Given the description of an element on the screen output the (x, y) to click on. 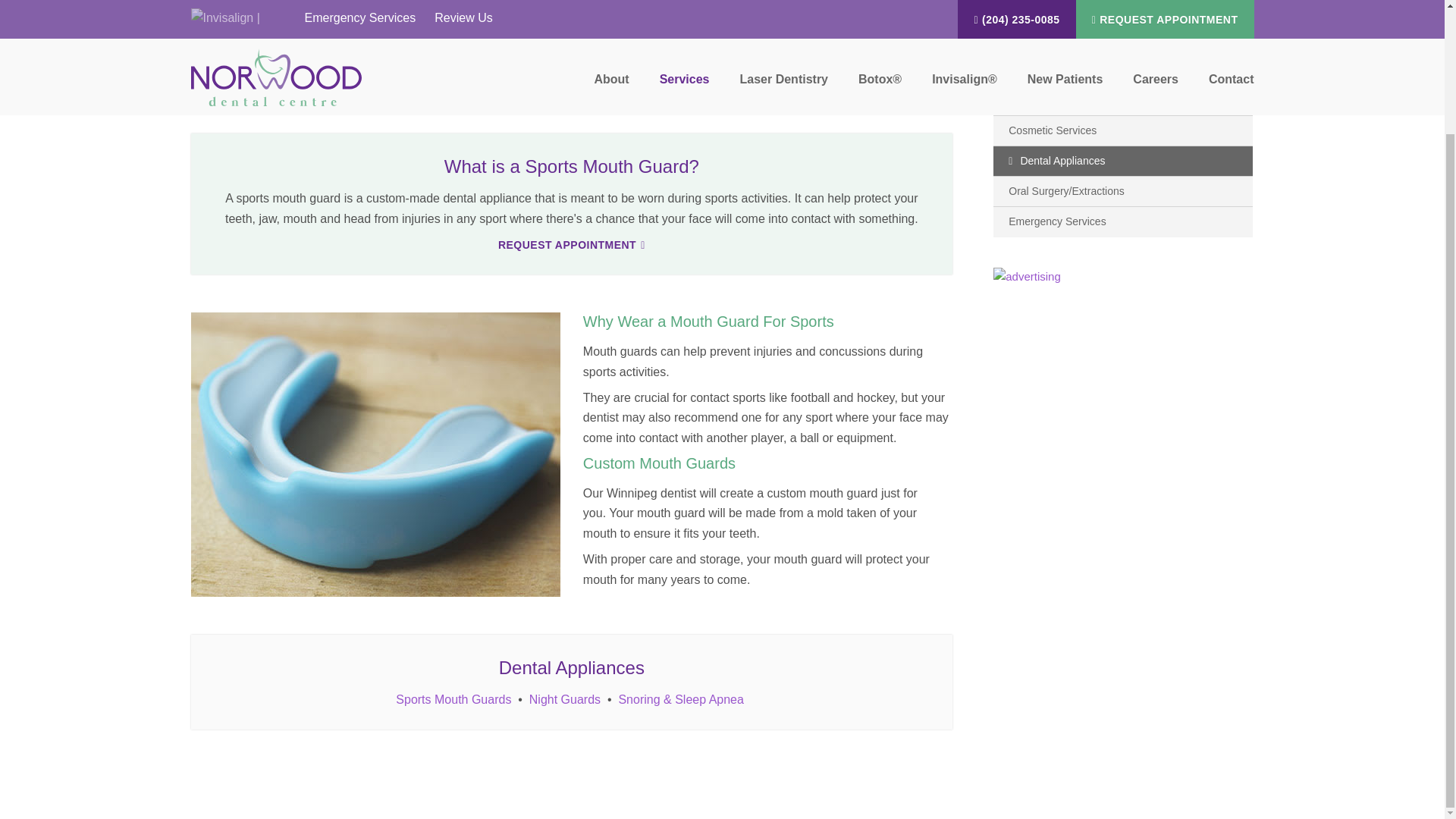
REQUEST APPOINTMENT (571, 244)
Sports Mouth Guards (453, 698)
General Dentistry (1122, 69)
Children's Services (1122, 99)
Night Guards (564, 698)
